Given the description of an element on the screen output the (x, y) to click on. 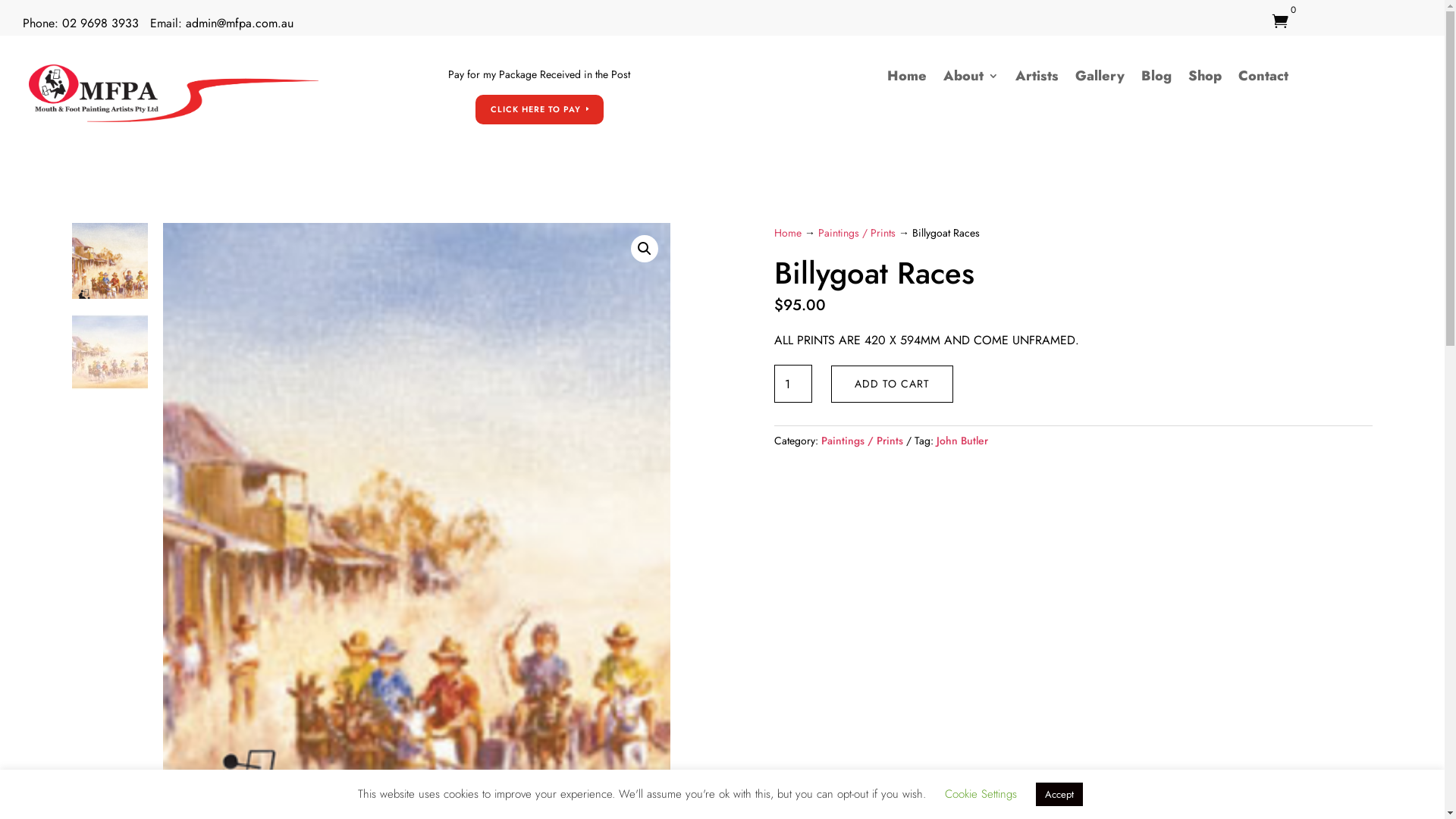
Home Element type: text (787, 232)
CLICK HERE TO PAY Element type: text (539, 109)
Home Element type: text (906, 78)
mfpa-logo Element type: hover (173, 93)
admin@mfpa.com.au Element type: text (239, 22)
John Butler Element type: text (962, 440)
02 9698 3933 Element type: text (100, 22)
Cookie Settings Element type: text (980, 793)
About Element type: text (970, 78)
Paintings / Prints Element type: text (856, 232)
Billygoat Races Element type: hover (923, 331)
Paintings / Prints Element type: text (862, 440)
Accept Element type: text (1058, 794)
Gallery Element type: text (1099, 78)
ADD TO CART Element type: text (892, 384)
Contact Element type: text (1263, 78)
Shop Element type: text (1204, 78)
Blog Element type: text (1156, 78)
Artists Element type: text (1036, 78)
